Given the description of an element on the screen output the (x, y) to click on. 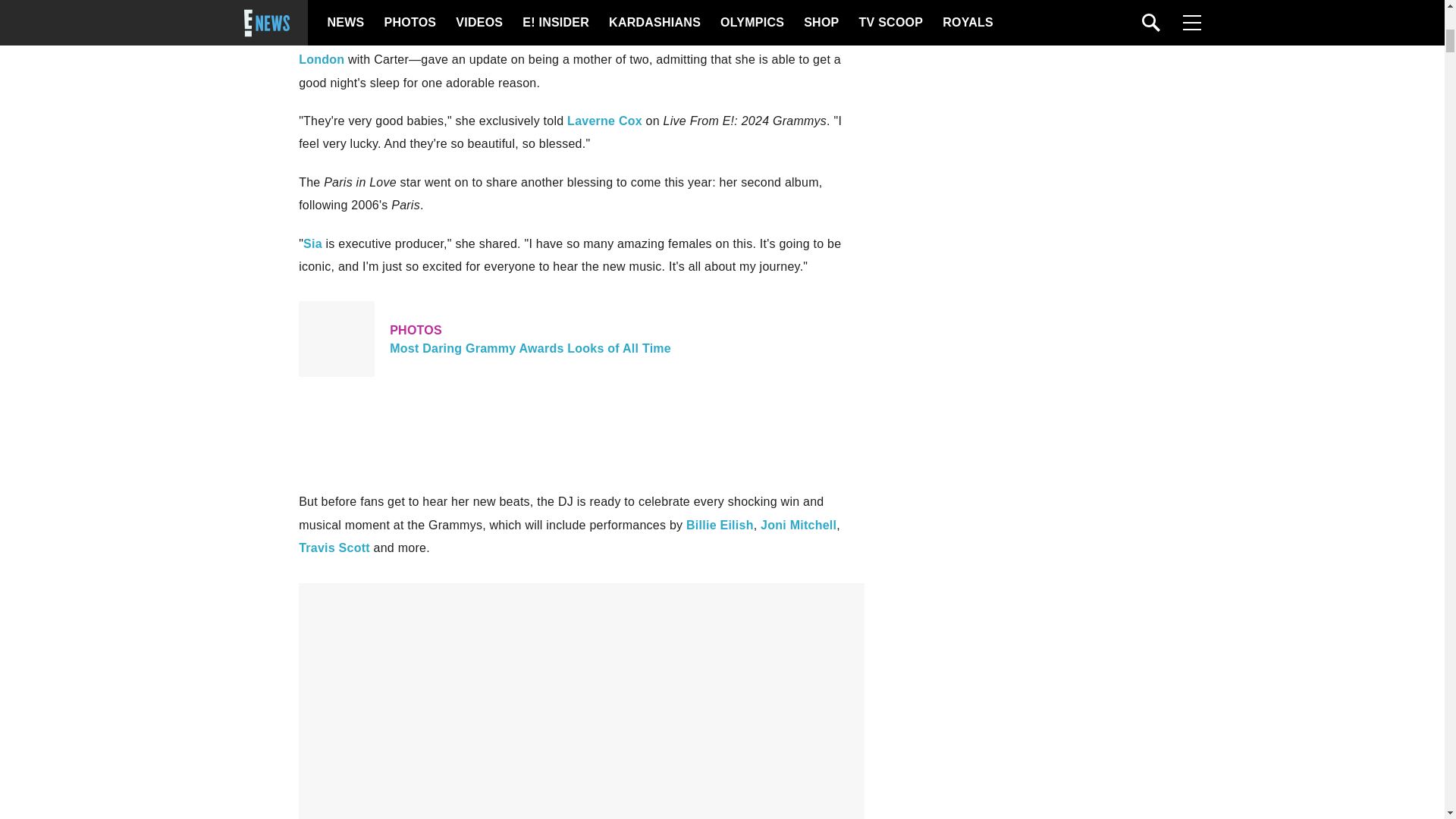
12-month-old son Phoenix (622, 36)
2-month-old daughter London (578, 48)
Sia (311, 243)
Laverne Cox (581, 338)
Billie Eilish (604, 120)
See all the stars at the award show here (719, 524)
